Given the description of an element on the screen output the (x, y) to click on. 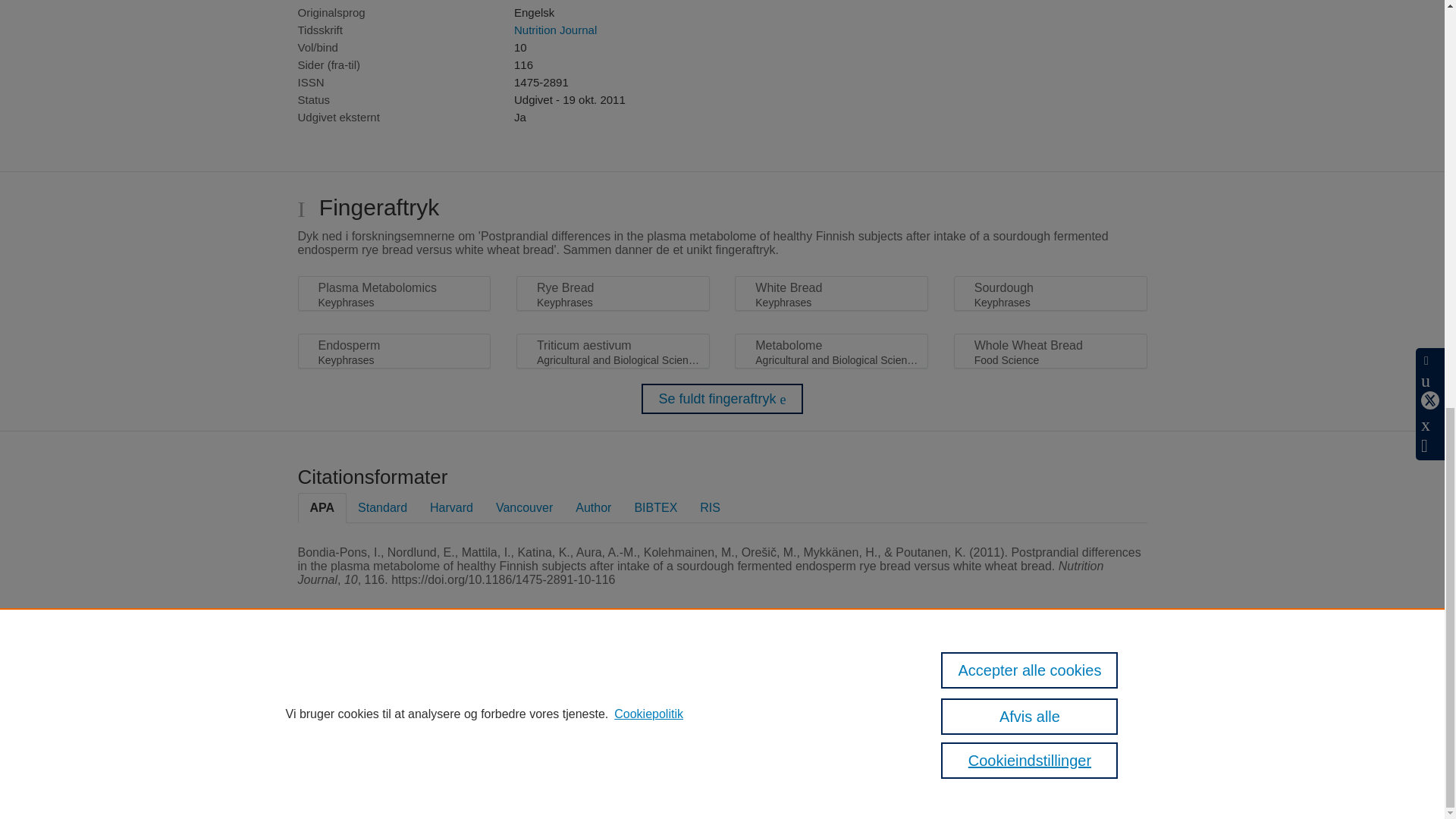
Cookieindstillinger (476, 781)
Nutrition Journal (554, 29)
brug af cookies (729, 754)
Pure (490, 685)
Se fuldt fingeraftryk (722, 399)
Elsevier B.V. (673, 706)
Scopus (522, 685)
